Given the description of an element on the screen output the (x, y) to click on. 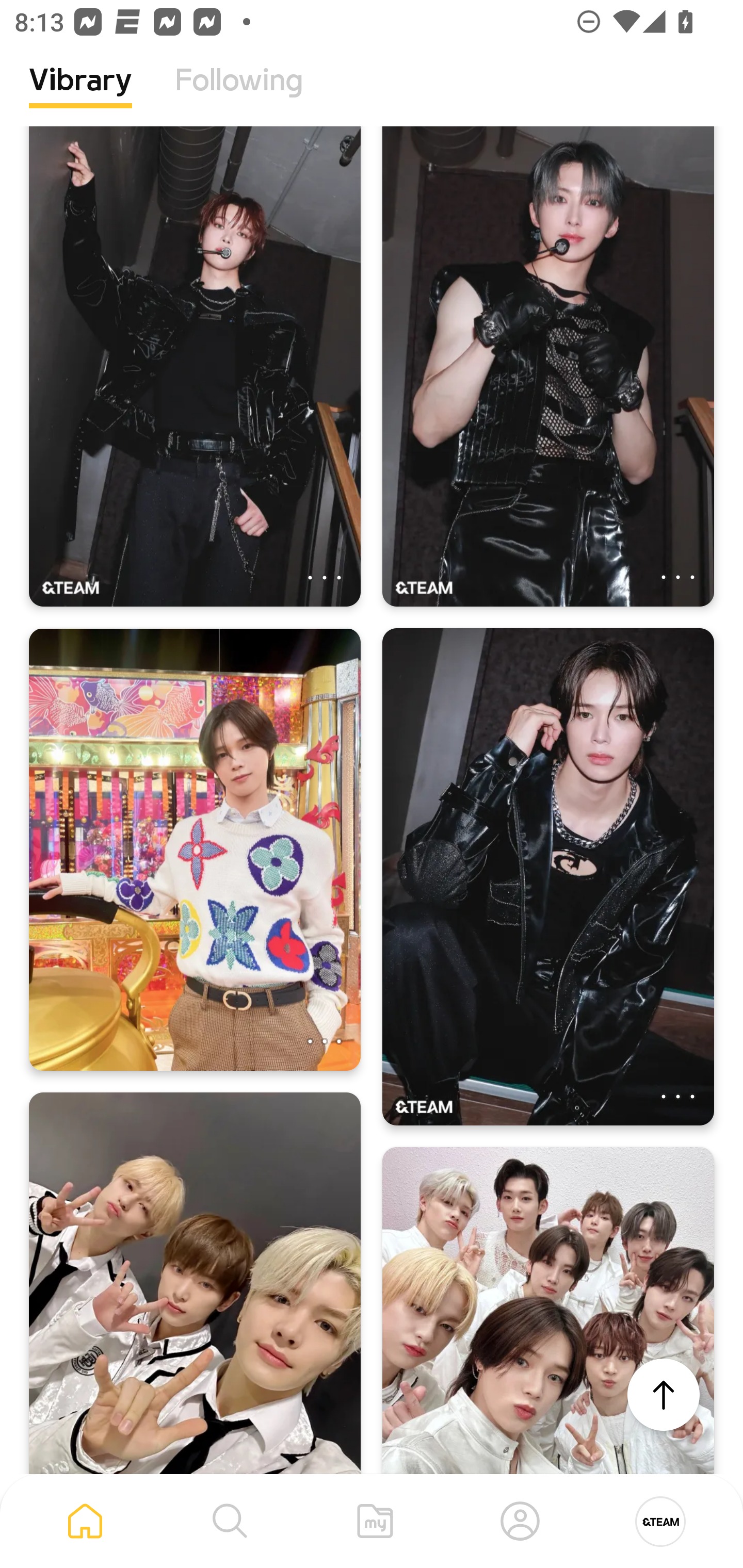
Vibrary (80, 95)
Following (239, 95)
